Given the description of an element on the screen output the (x, y) to click on. 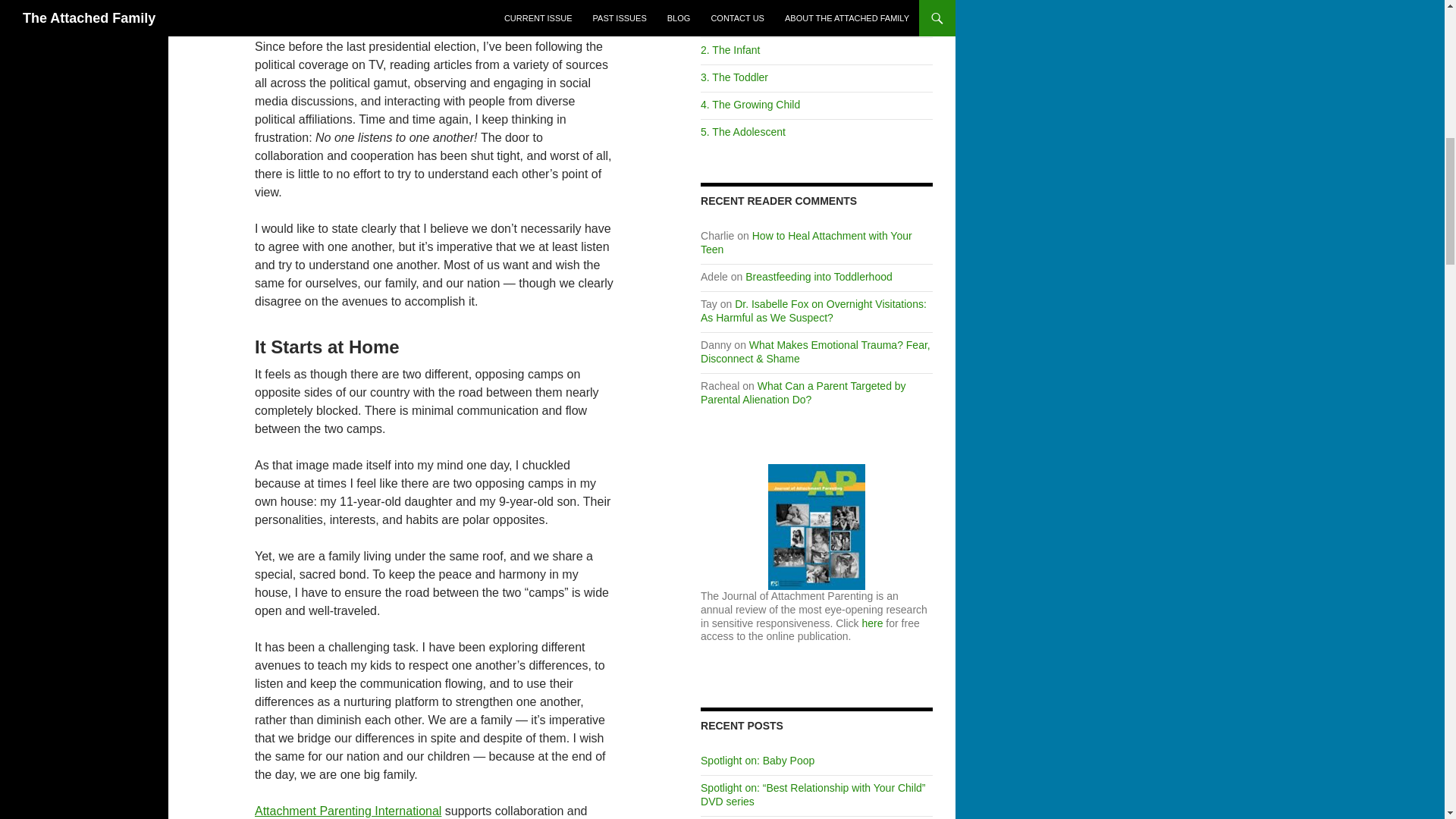
4. The Growing Child (749, 104)
Spotlight on: Baby Poop (756, 760)
5. The Adolescent (743, 132)
Attachment Parenting International (347, 810)
Breastfeeding into Toddlerhood (818, 276)
How to Heal Attachment with Your Teen (806, 242)
3. The Toddler (734, 77)
here (871, 623)
2. The Infant (730, 50)
